Given the description of an element on the screen output the (x, y) to click on. 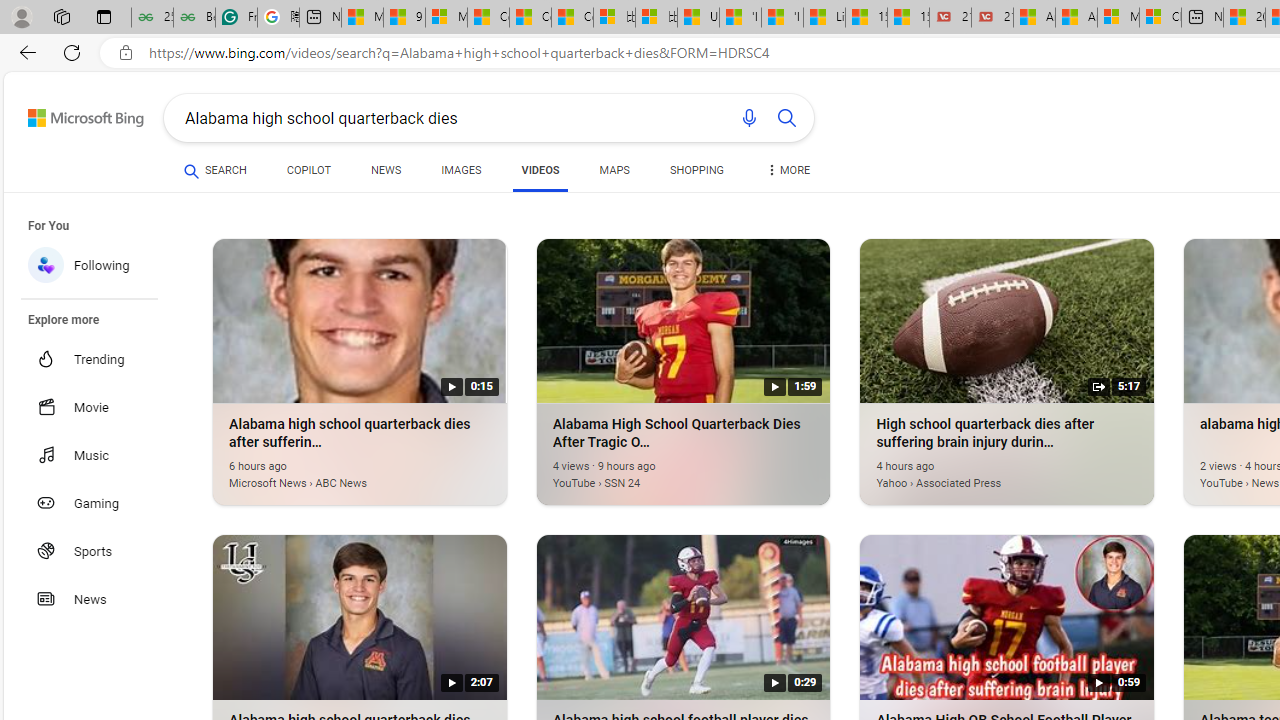
MAPS (614, 170)
SHOPPING (696, 173)
NEWS (385, 173)
Lifestyle - MSN (823, 17)
Search button (786, 117)
Trending (99, 359)
